Given the description of an element on the screen output the (x, y) to click on. 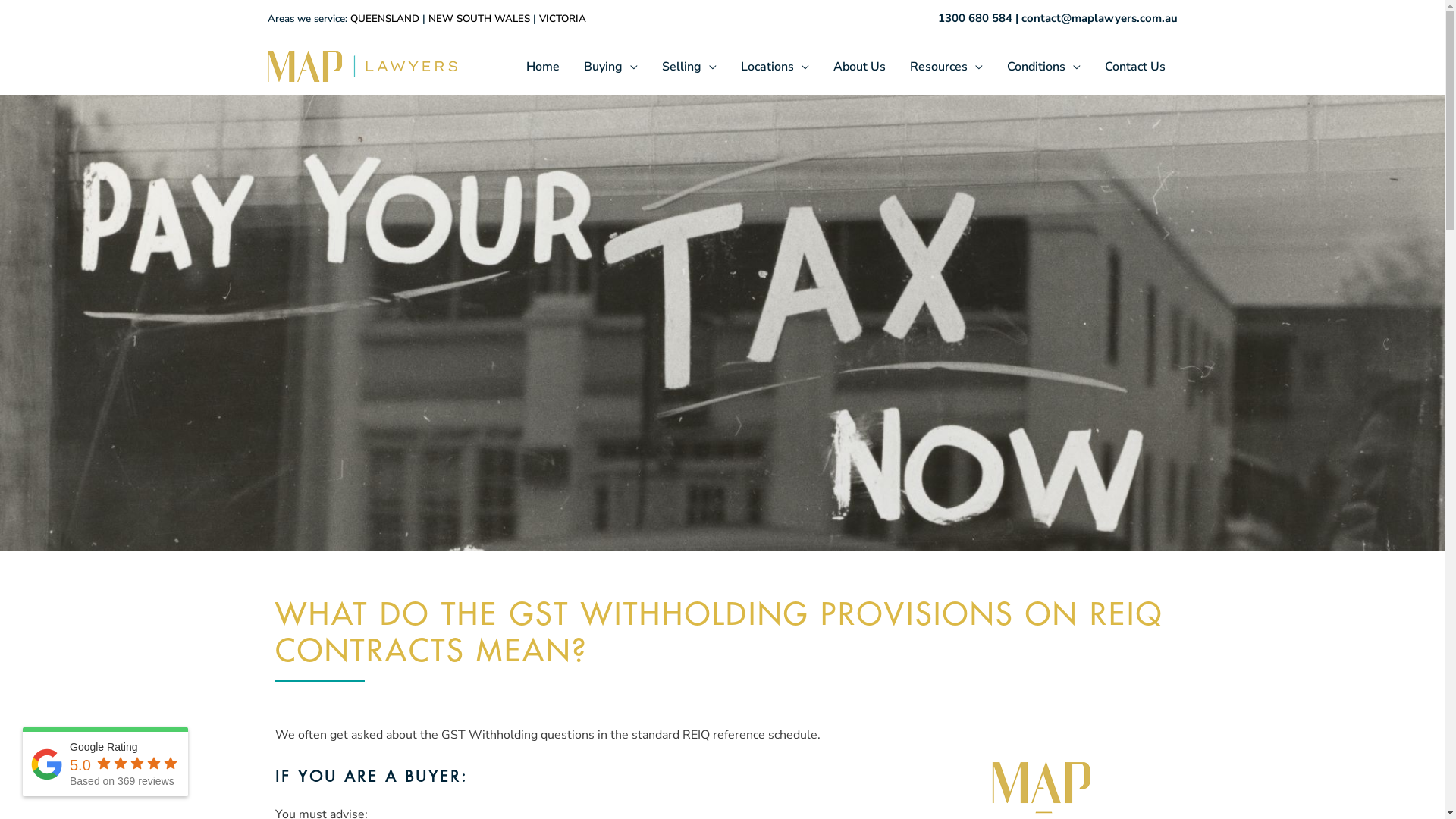
VICTORIA Element type: text (561, 18)
Resources Element type: text (945, 66)
Home Element type: text (542, 66)
Buying Element type: text (610, 66)
About Us Element type: text (858, 66)
Locations Element type: text (774, 66)
1300 680 584 Element type: text (974, 17)
Selling Element type: text (688, 66)
contact@maplawyers.com.au Element type: text (1098, 17)
QUEENSLAND Element type: text (384, 18)
NEW SOUTH WALES Element type: text (478, 18)
Contact Us Element type: text (1134, 66)
Conditions Element type: text (1043, 66)
